Given the description of an element on the screen output the (x, y) to click on. 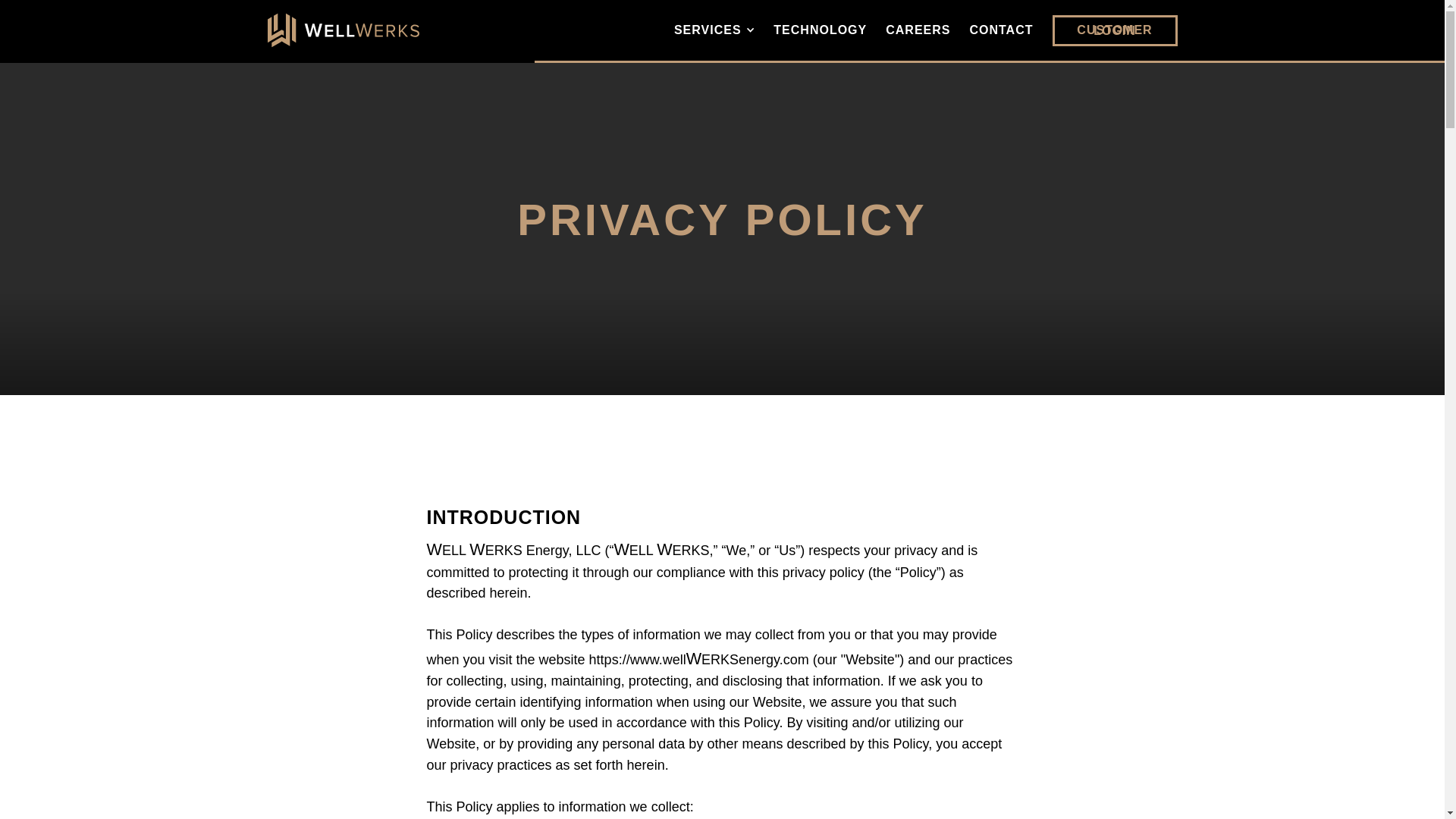
TECHNOLOGY (819, 30)
CONTACT (1000, 30)
CUSTOMER LOGIN (1114, 30)
CAREERS (917, 30)
